Given the description of an element on the screen output the (x, y) to click on. 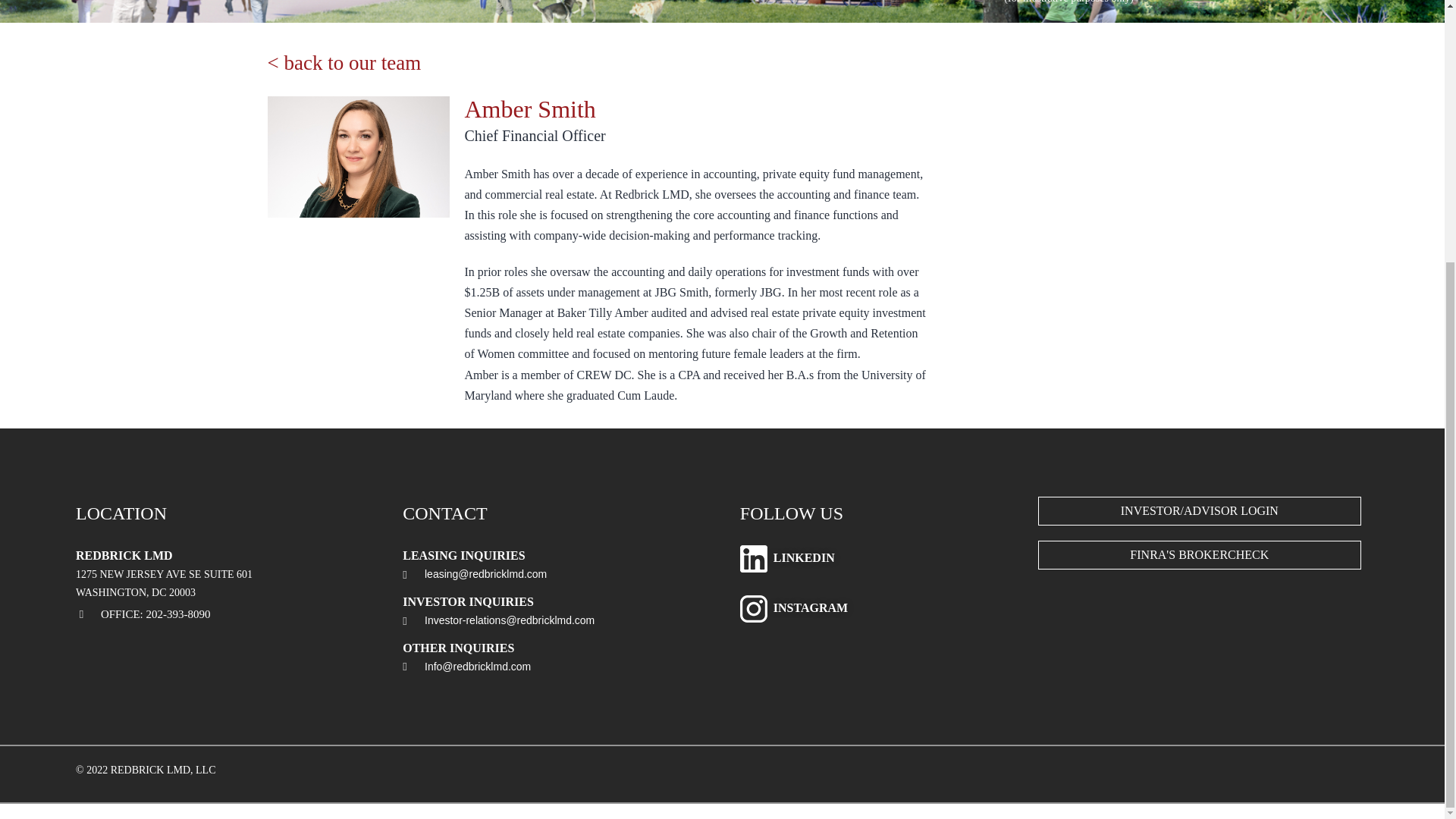
INSTAGRAM (810, 608)
LINKEDIN (803, 558)
FINRA'S BROKERCHECK (1199, 554)
